Given the description of an element on the screen output the (x, y) to click on. 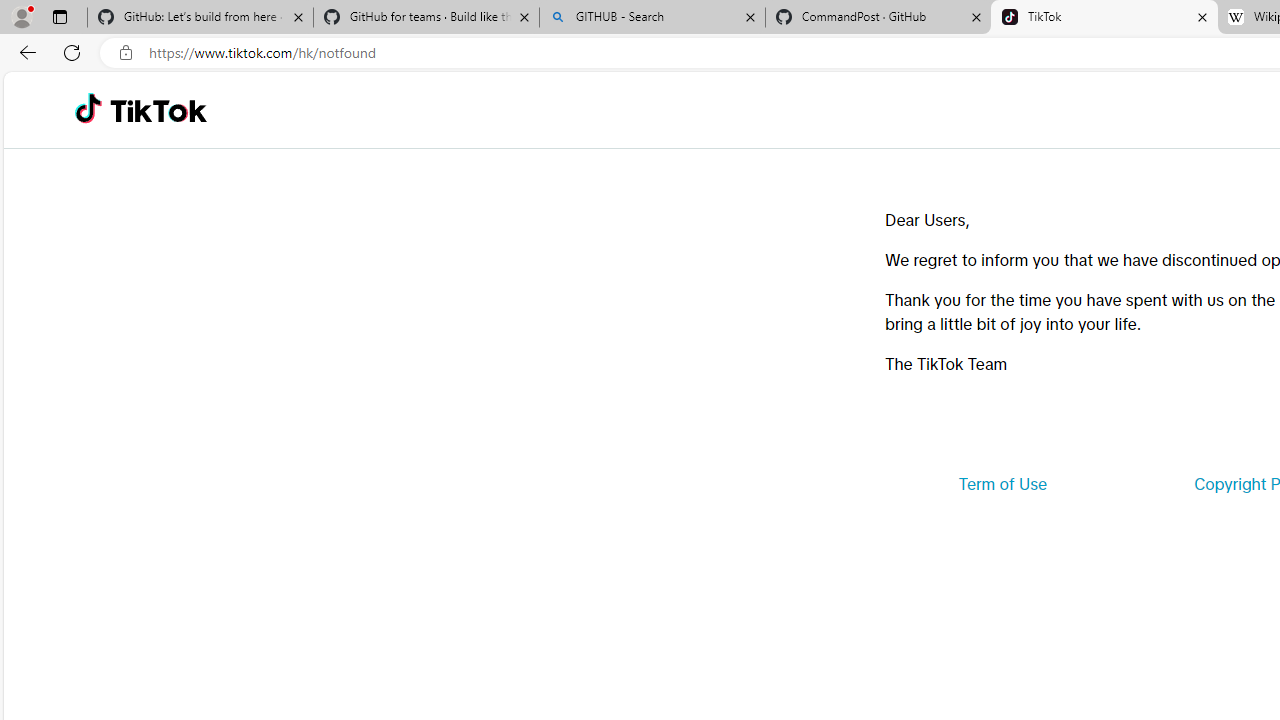
GITHUB - Search (652, 17)
Term of Use (1002, 484)
